Given the description of an element on the screen output the (x, y) to click on. 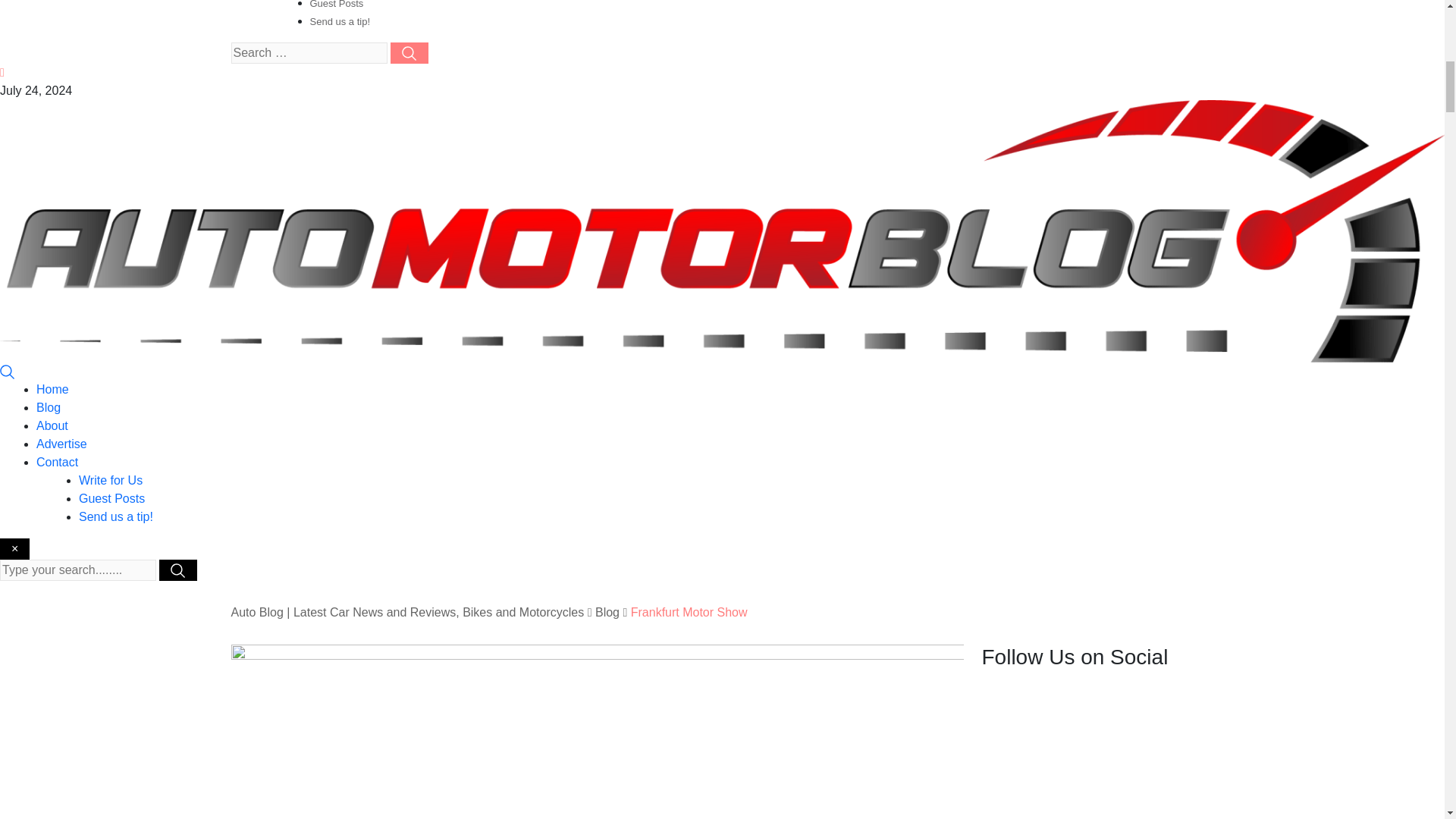
Search (7, 370)
Home (52, 389)
Guest Posts (335, 4)
About (52, 425)
Contact (57, 461)
Send us a tip! (338, 21)
Guest Posts (111, 498)
Write for Us (110, 480)
Blog (48, 407)
Go to Blog. (607, 612)
Advertise (61, 443)
